Given the description of an element on the screen output the (x, y) to click on. 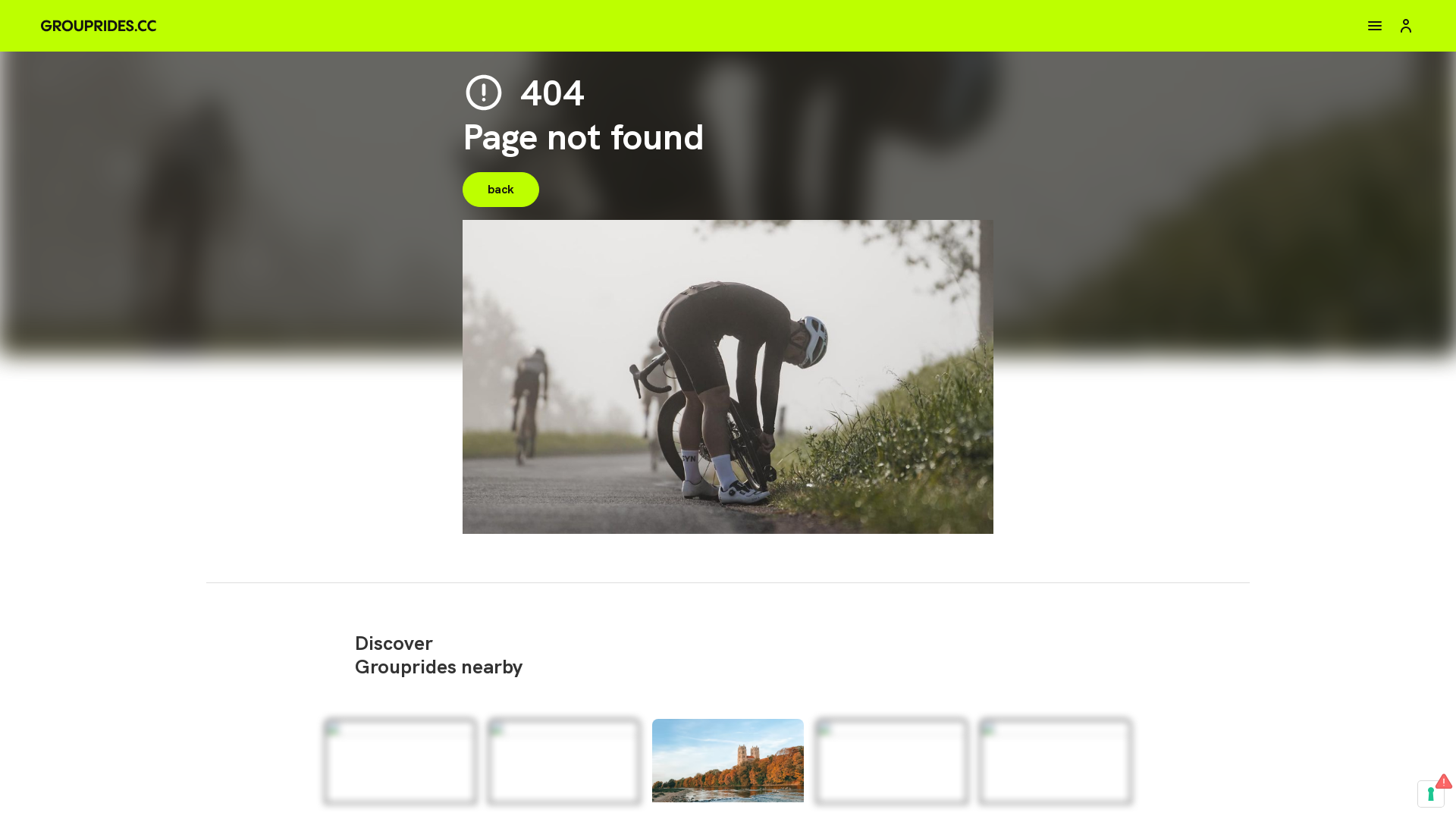
back Element type: text (727, 206)
back Element type: text (500, 189)
